Given the description of an element on the screen output the (x, y) to click on. 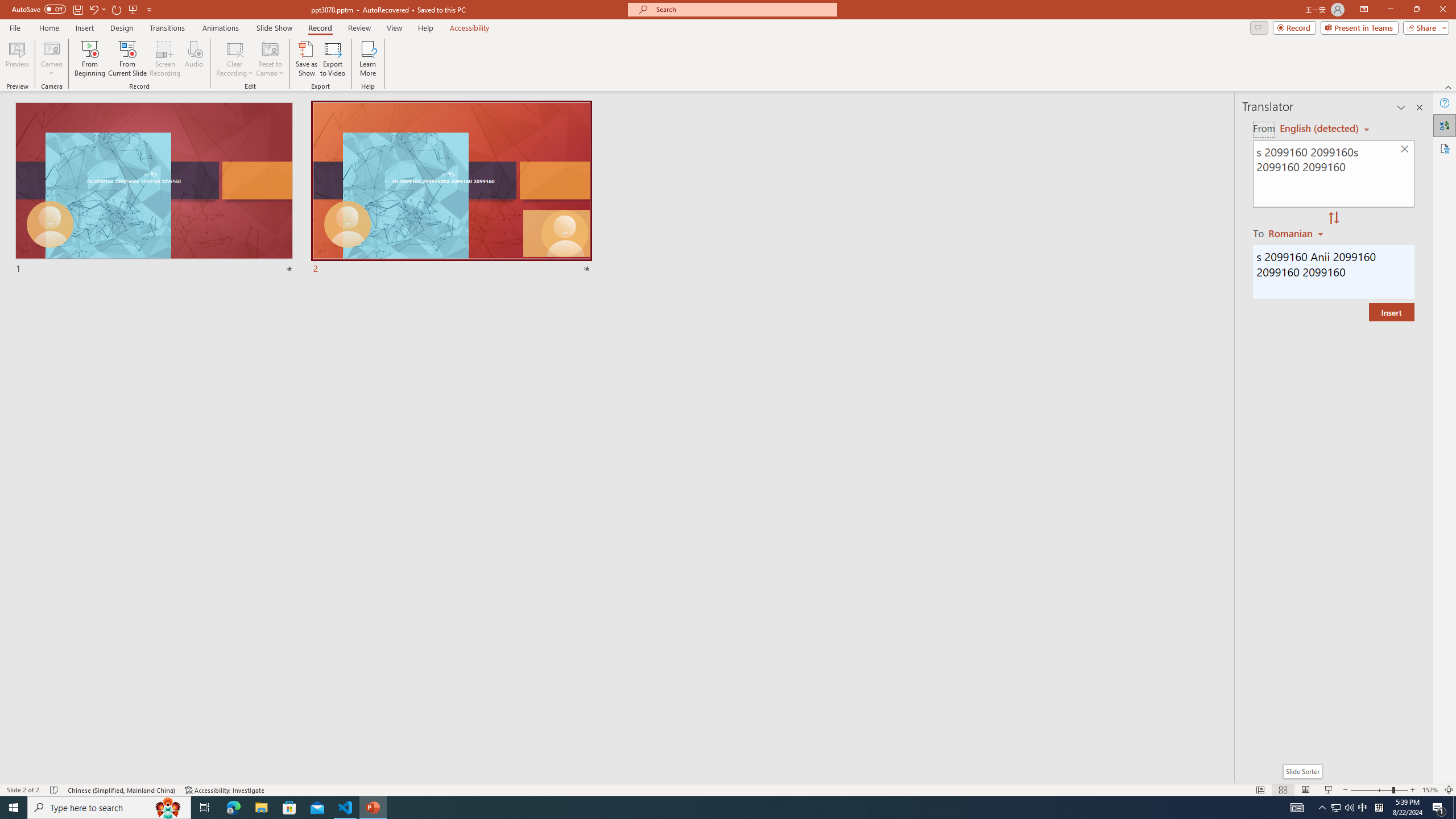
Swap "from" and "to" languages. (1333, 218)
From Current Slide... (127, 58)
Export to Video (332, 58)
